Given the description of an element on the screen output the (x, y) to click on. 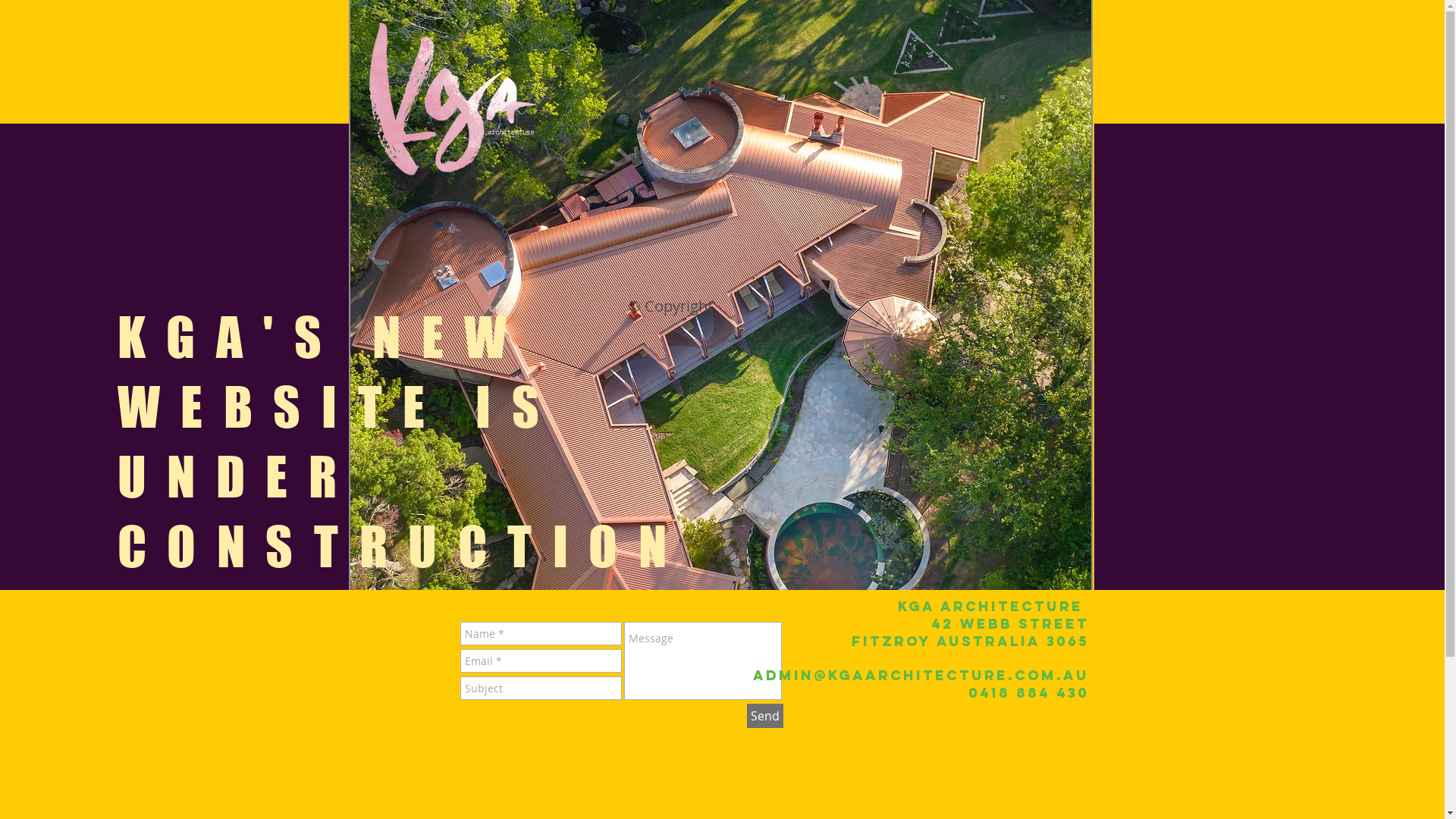
KGA logo.png Element type: hover (451, 98)
admin@KGAArchitecture.com.au Element type: text (920, 675)
Send Element type: text (764, 715)
